Given the description of an element on the screen output the (x, y) to click on. 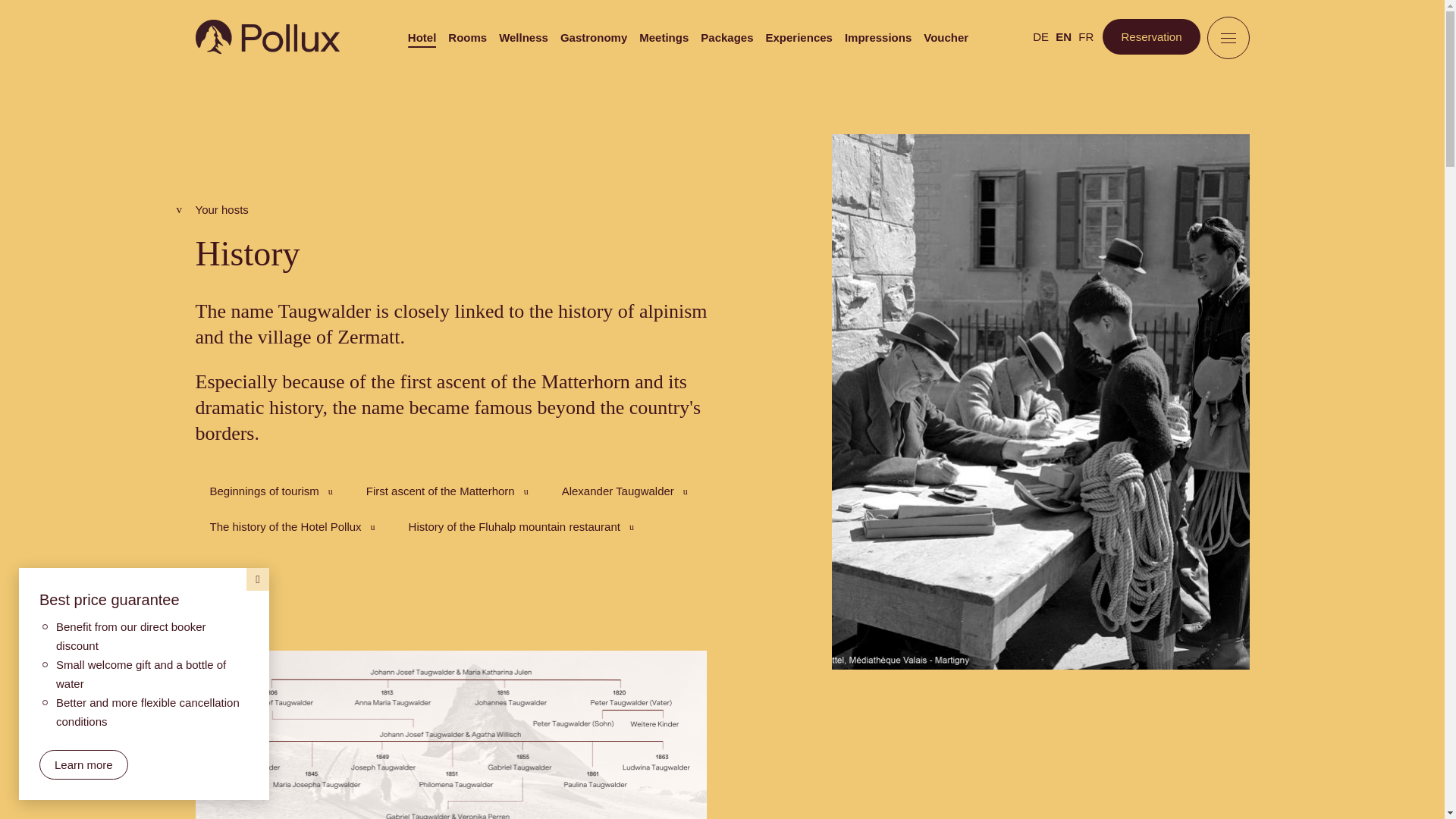
Open navigation (1228, 37)
Deutsch (1040, 36)
Reservation (1150, 36)
English (1063, 36)
